Given the description of an element on the screen output the (x, y) to click on. 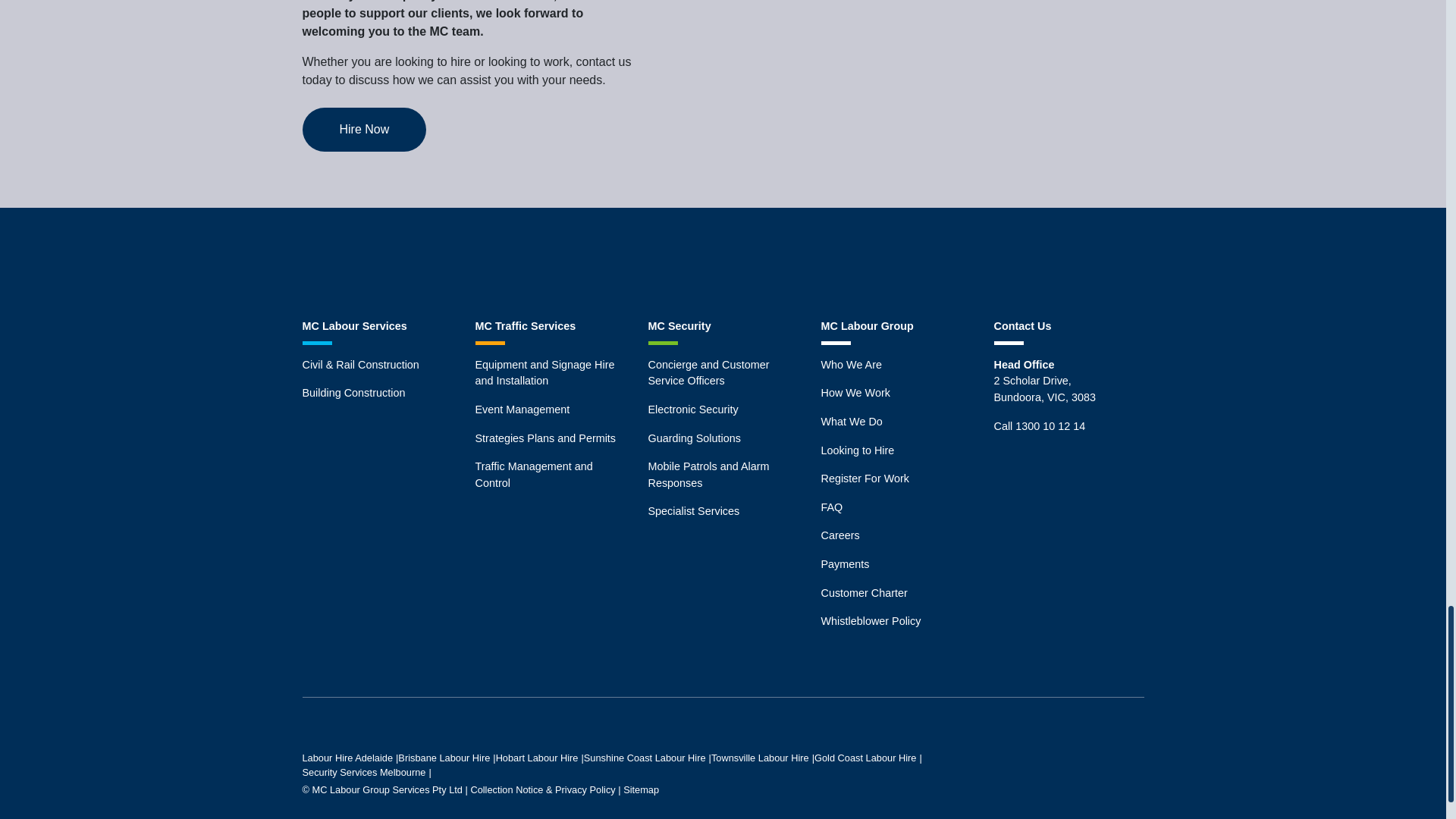
Like MC Labour Group on Facebook (669, 262)
Follow MC Labour Group on Instagram (722, 262)
Follow MC Labour Group on LinkedIn (775, 262)
Hire Now (363, 129)
